Given the description of an element on the screen output the (x, y) to click on. 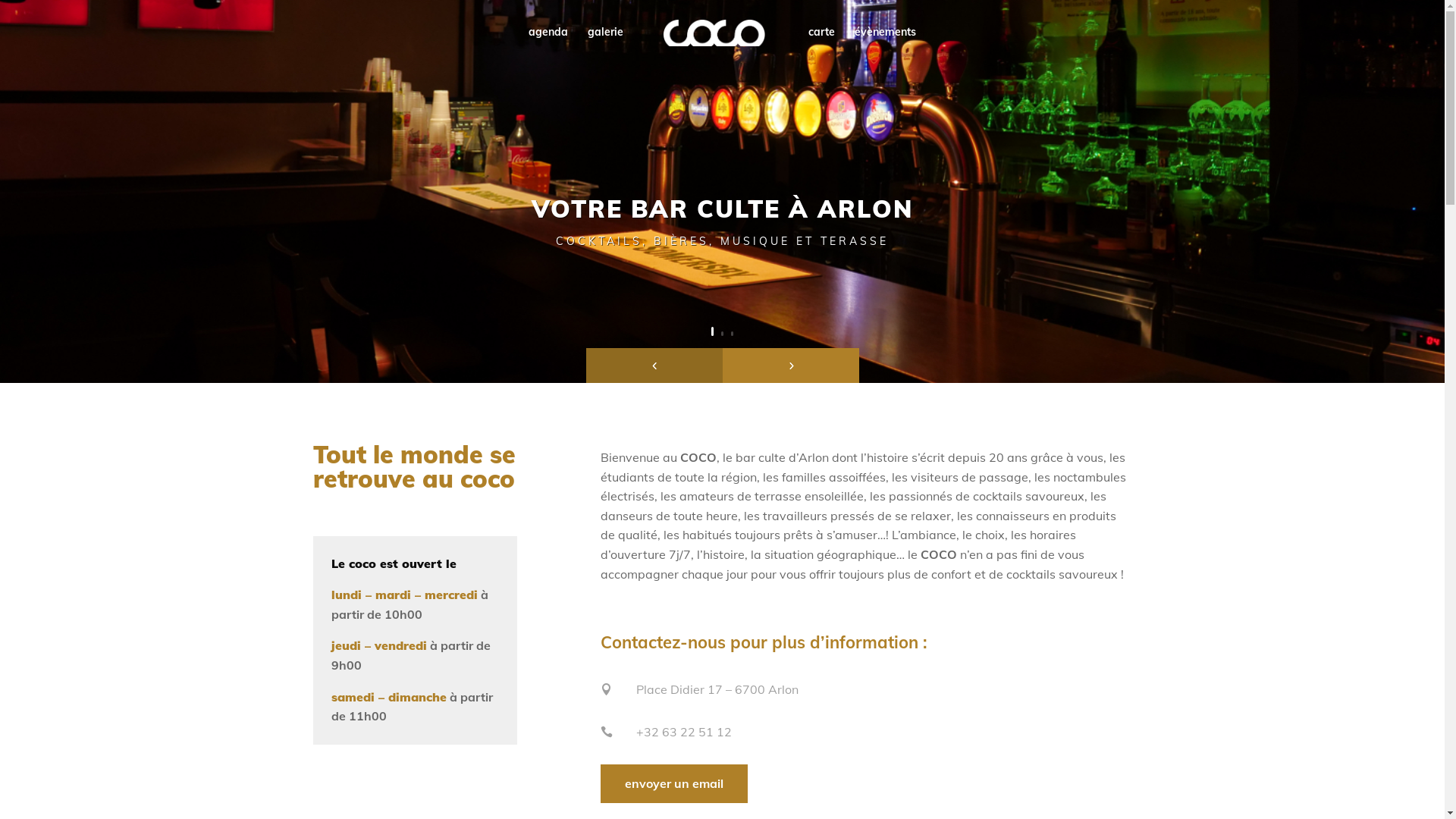
galerie Element type: text (605, 44)
envoyer un email Element type: text (673, 783)
agenda Element type: text (547, 44)
3 Element type: text (732, 333)
2 Element type: text (722, 333)
1 Element type: text (712, 330)
carte Element type: text (821, 44)
